Given the description of an element on the screen output the (x, y) to click on. 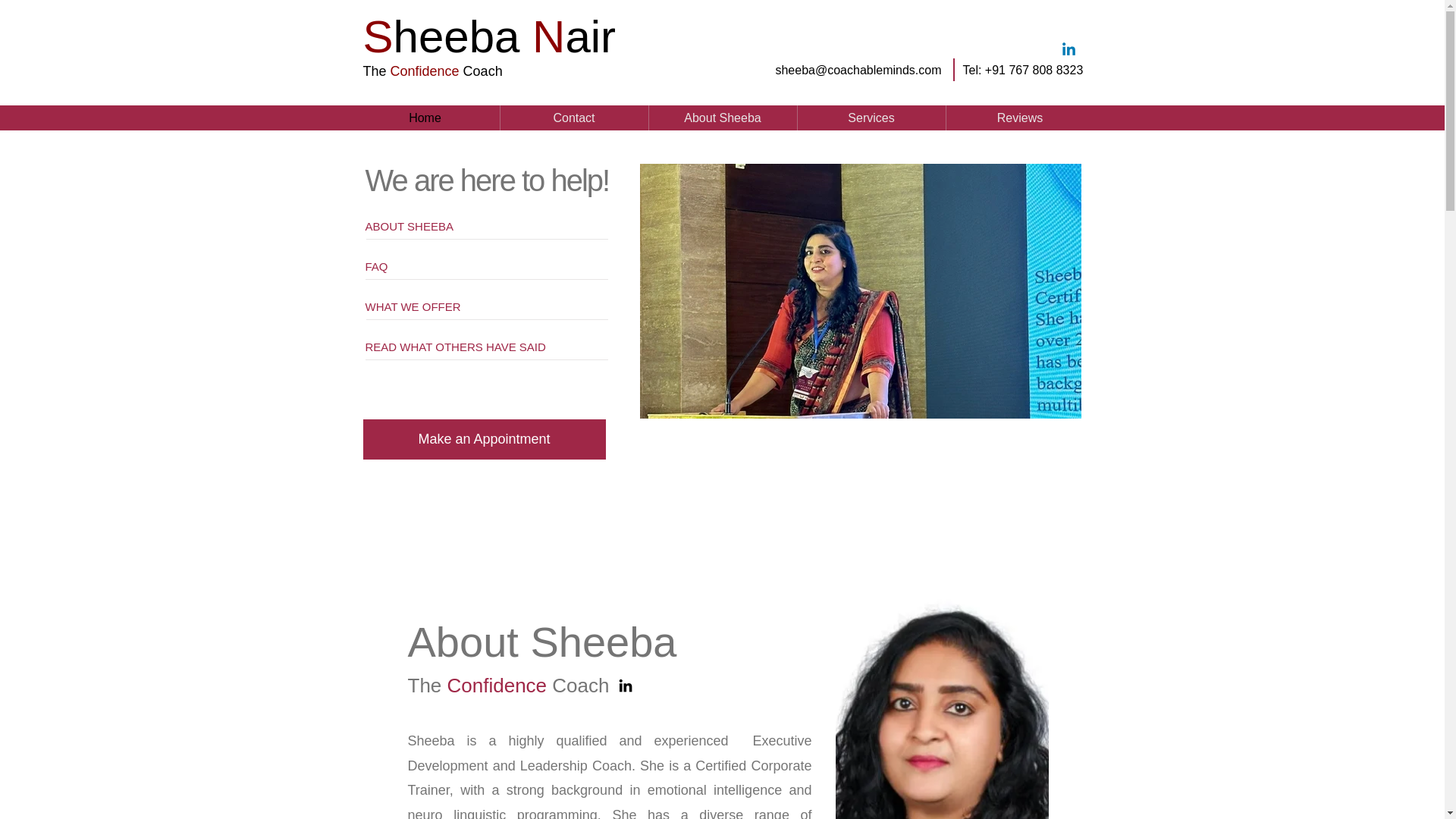
WHAT WE OFFER (492, 306)
heeba (456, 36)
Confidence (426, 70)
Reviews (1020, 117)
Coach (482, 70)
air (589, 36)
ABOUT SHEEBA (492, 226)
N (541, 36)
About Sheeba (722, 117)
Th (370, 70)
Make an Appointment (483, 439)
Home (424, 117)
READ WHAT OTHERS HAVE SAID (492, 346)
Contact (573, 117)
Services (870, 117)
